Given the description of an element on the screen output the (x, y) to click on. 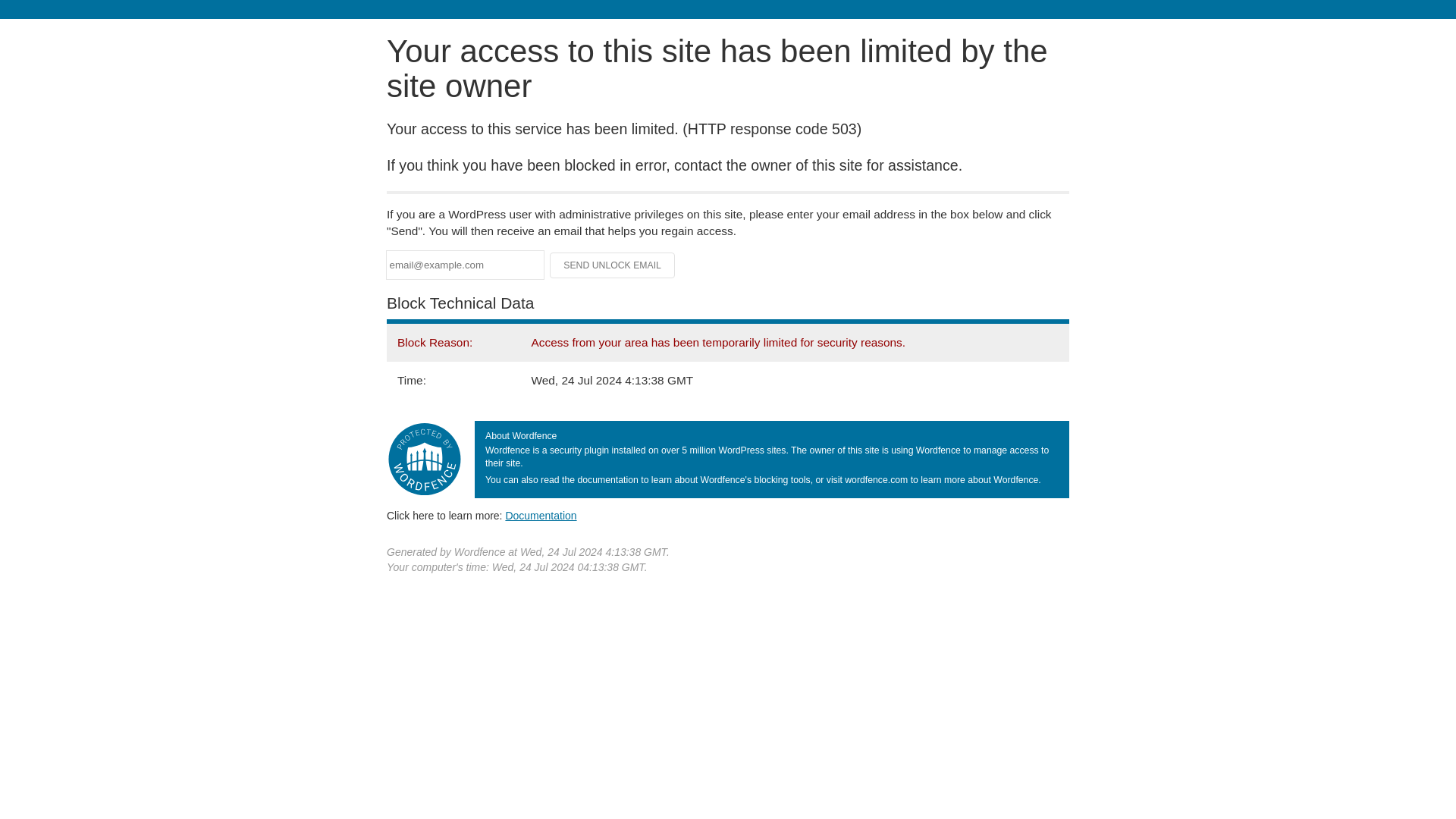
Send Unlock Email (612, 265)
Send Unlock Email (612, 265)
Documentation (540, 515)
